Given the description of an element on the screen output the (x, y) to click on. 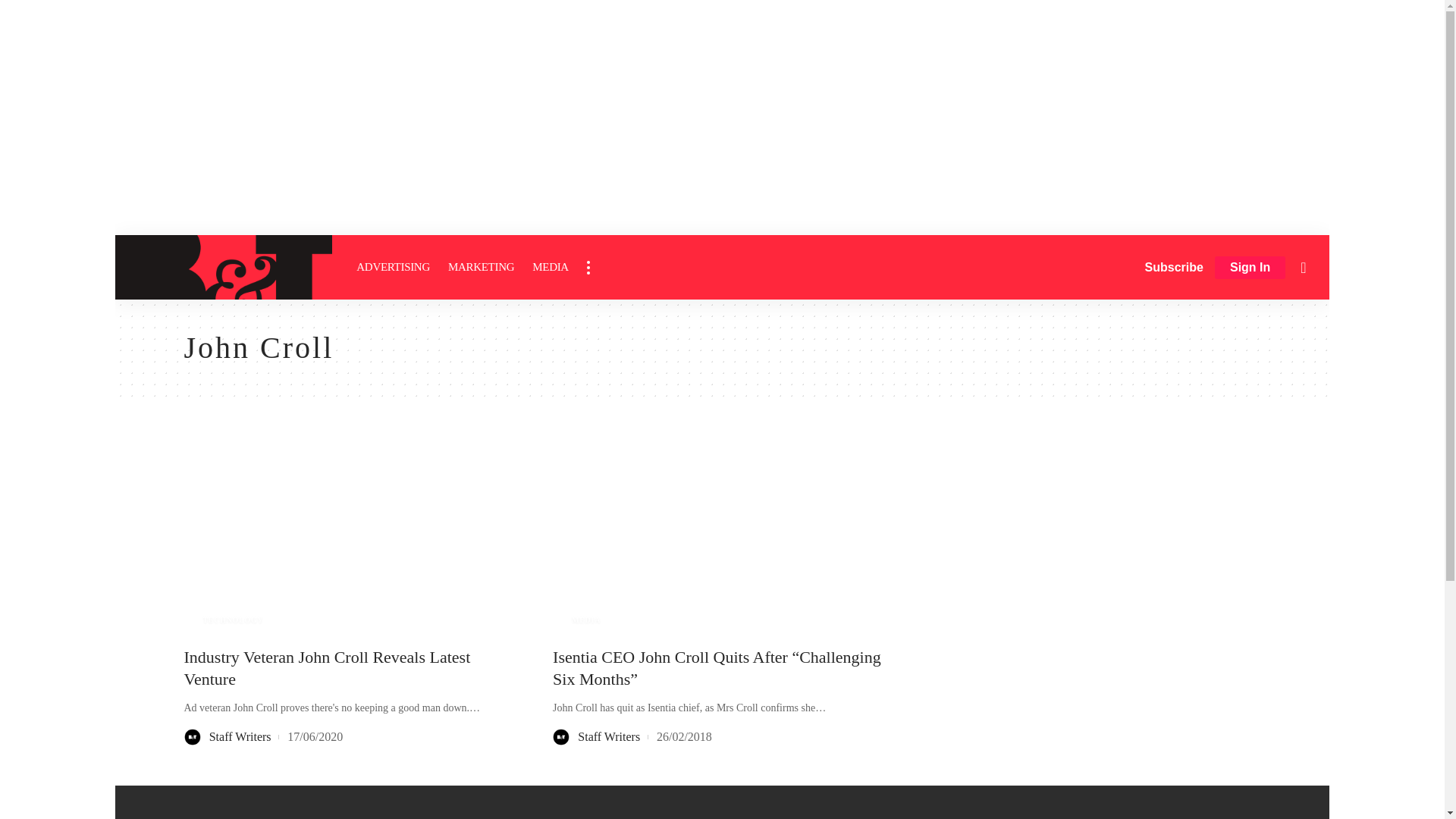
ADVERTISING (393, 267)
Industry Veteran John Croll Reveals Latest Venture (352, 536)
MARKETING (480, 267)
Sign In (1249, 267)
Subscribe (1174, 267)
